Given the description of an element on the screen output the (x, y) to click on. 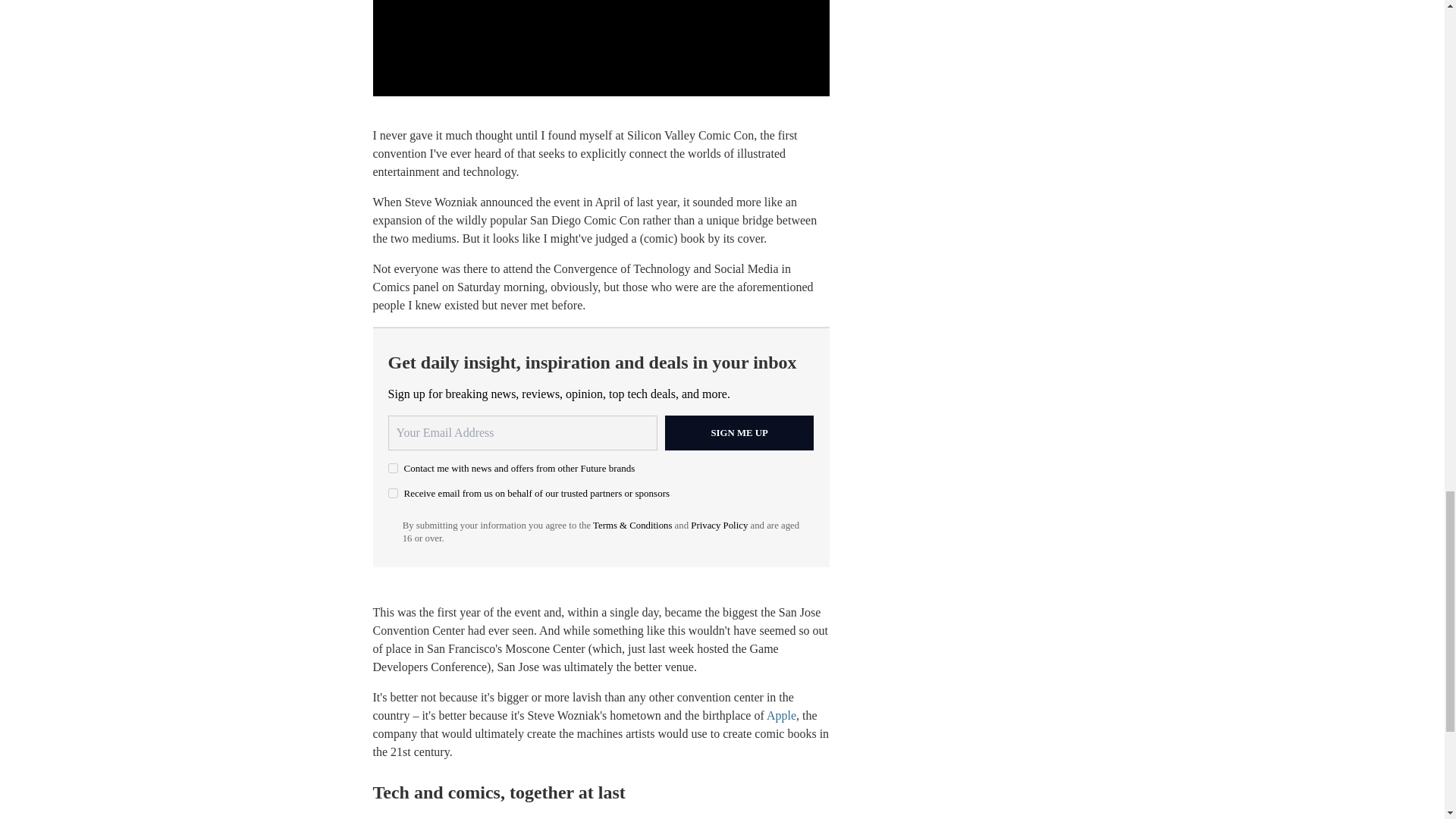
Sign me up (739, 432)
on (392, 492)
on (392, 468)
